Given the description of an element on the screen output the (x, y) to click on. 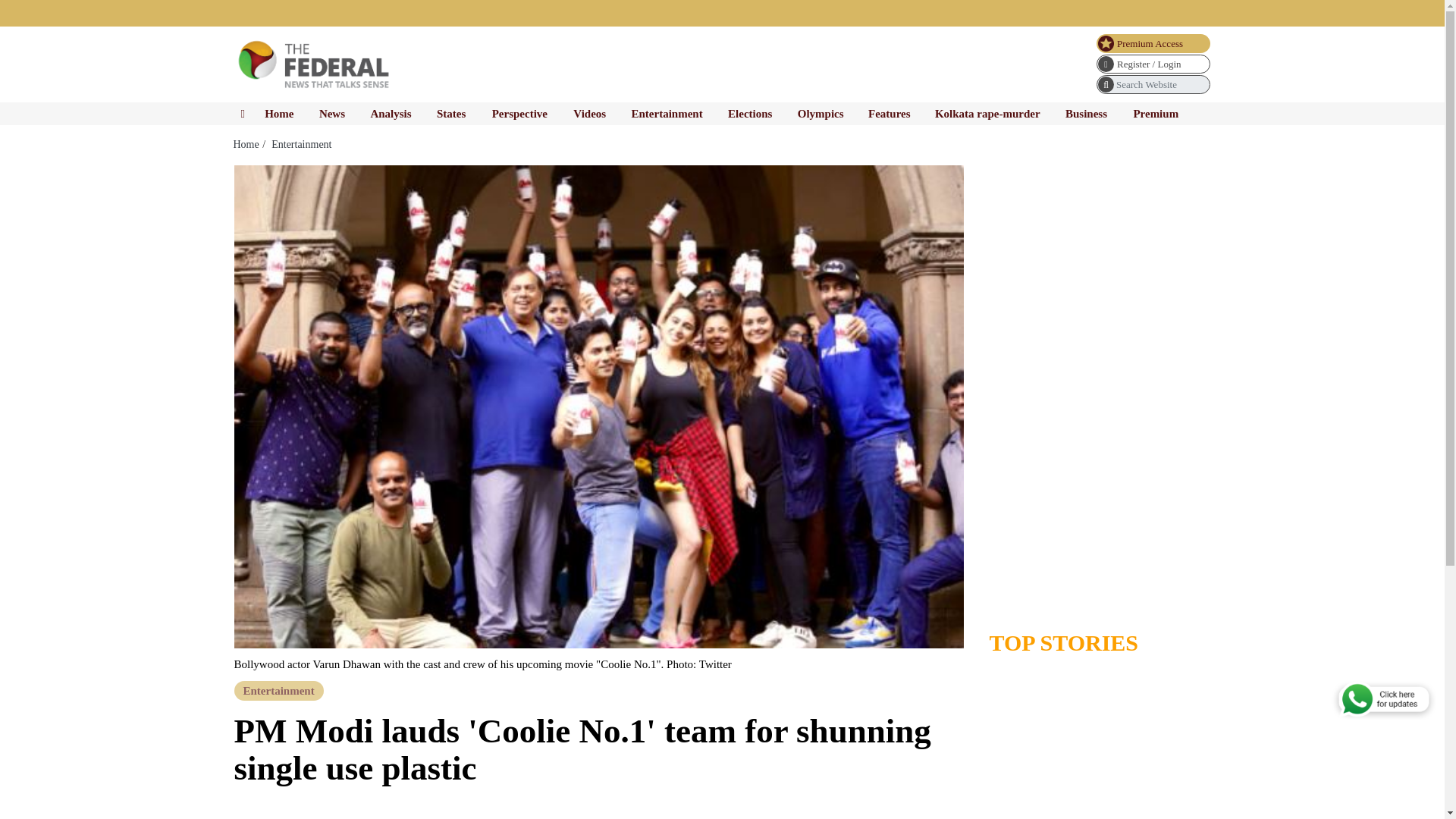
The Federal (314, 64)
Premium Access (1152, 43)
